Given the description of an element on the screen output the (x, y) to click on. 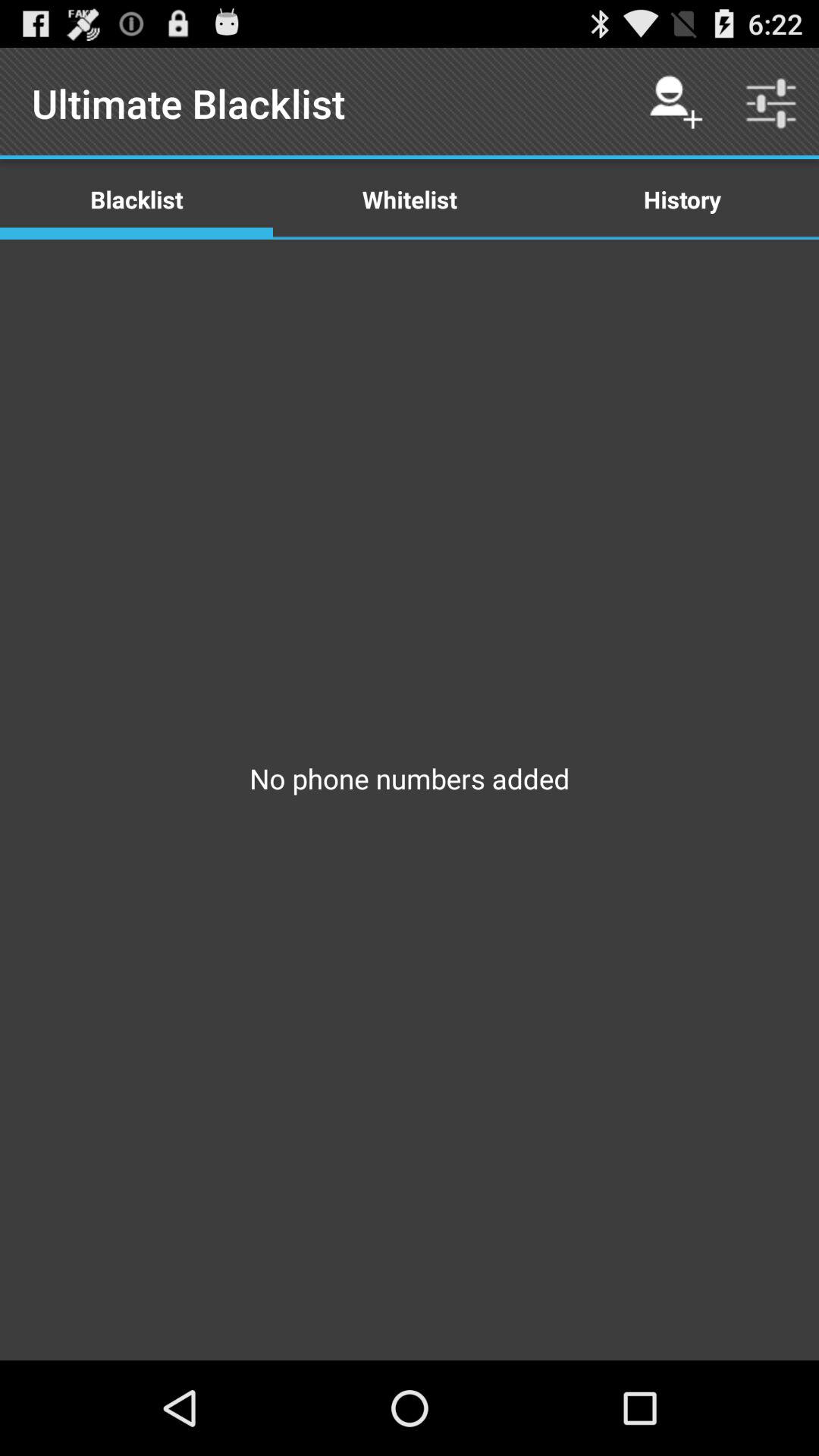
launch the icon above history (675, 103)
